Given the description of an element on the screen output the (x, y) to click on. 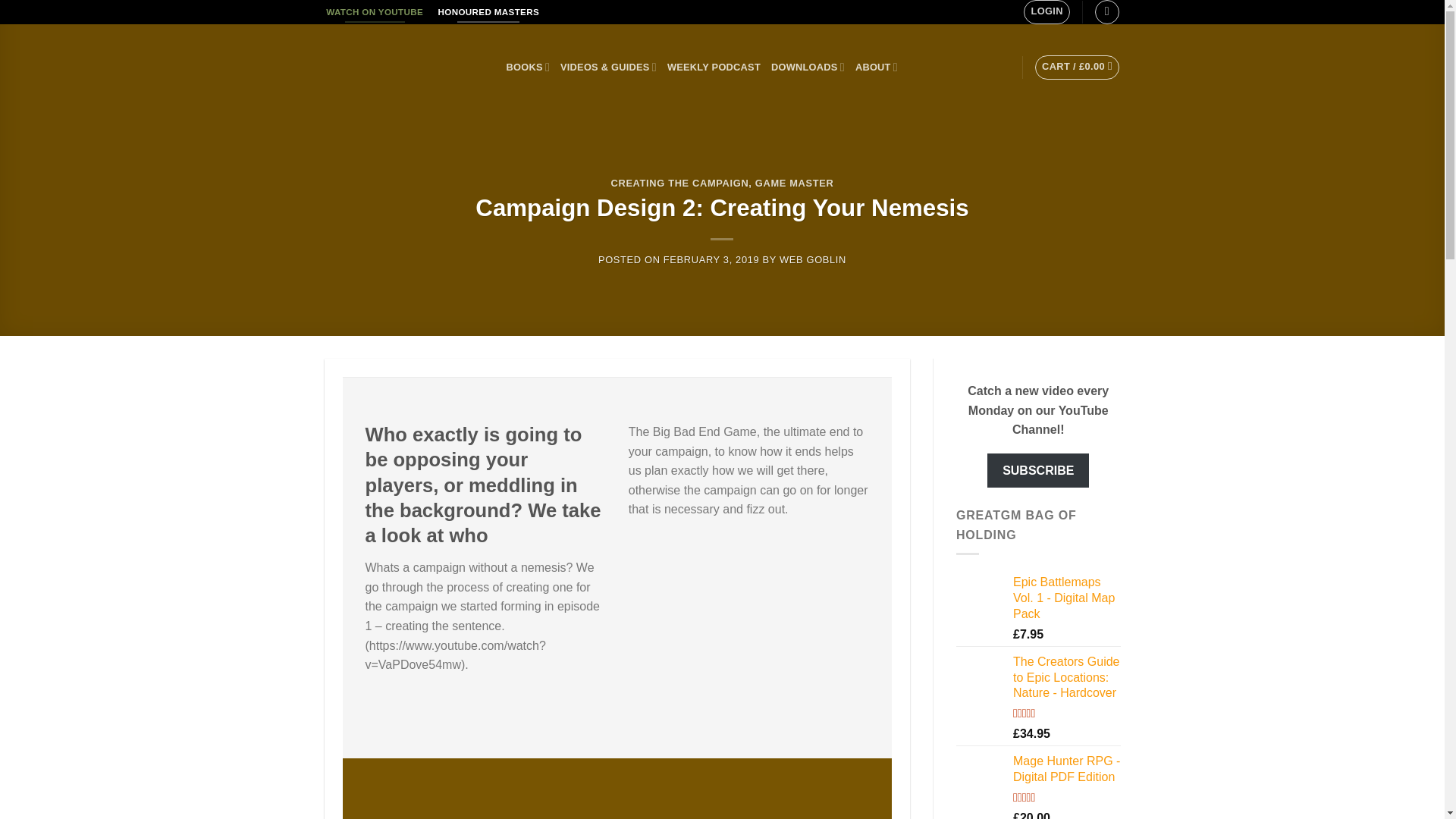
BOOKS (528, 66)
HONOURED MASTERS (488, 11)
WATCH ON YOUTUBE (374, 11)
Cart (1077, 66)
LOGIN (1045, 12)
Login (1045, 12)
